Given the description of an element on the screen output the (x, y) to click on. 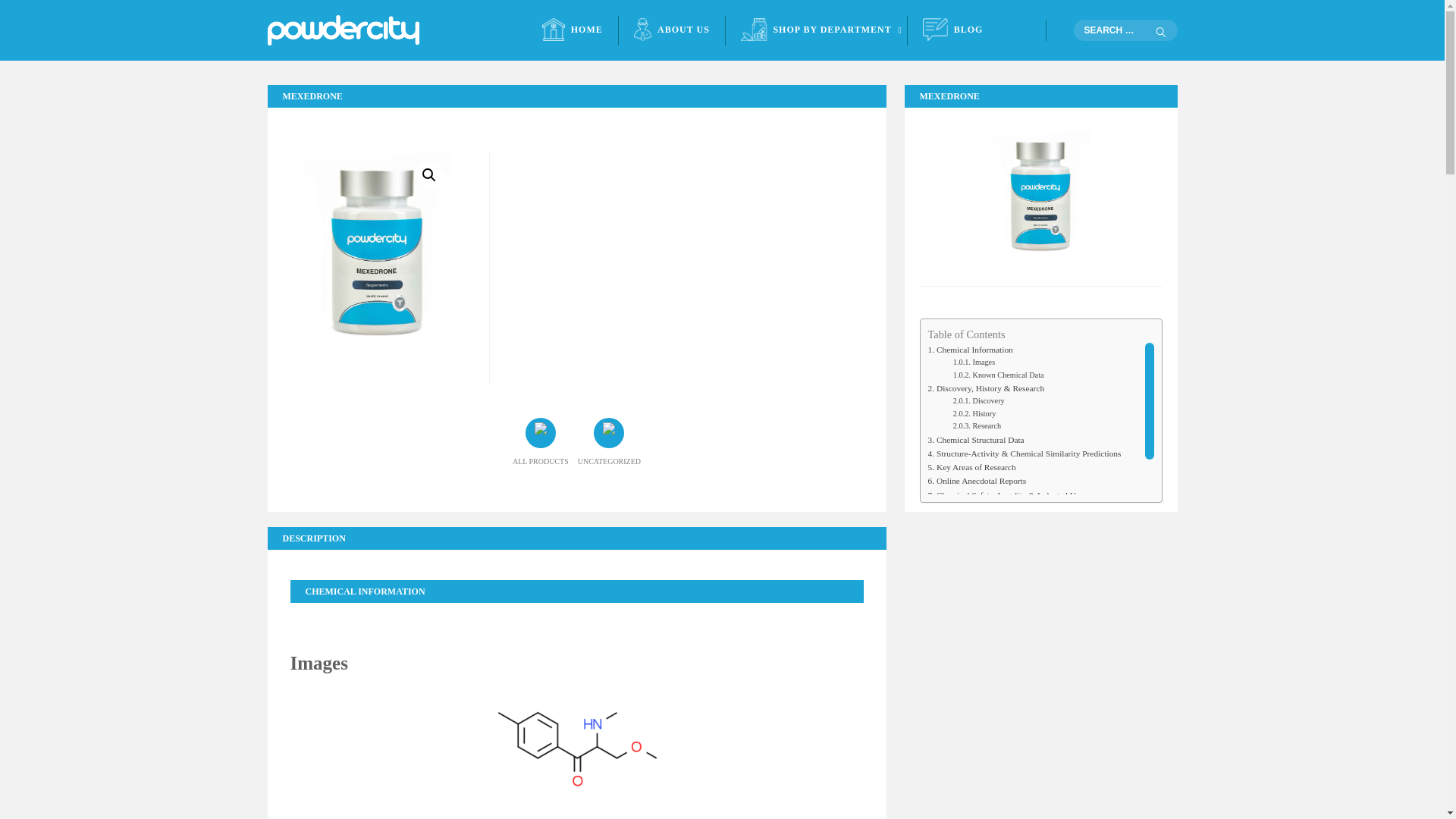
HOME (572, 30)
ABOUT US (671, 30)
Chemical Information (970, 348)
Search (1159, 32)
BLOG (952, 30)
Images (973, 361)
Known Chemical Data (998, 375)
SHOP BY DEPARTMENT (816, 30)
